Given the description of an element on the screen output the (x, y) to click on. 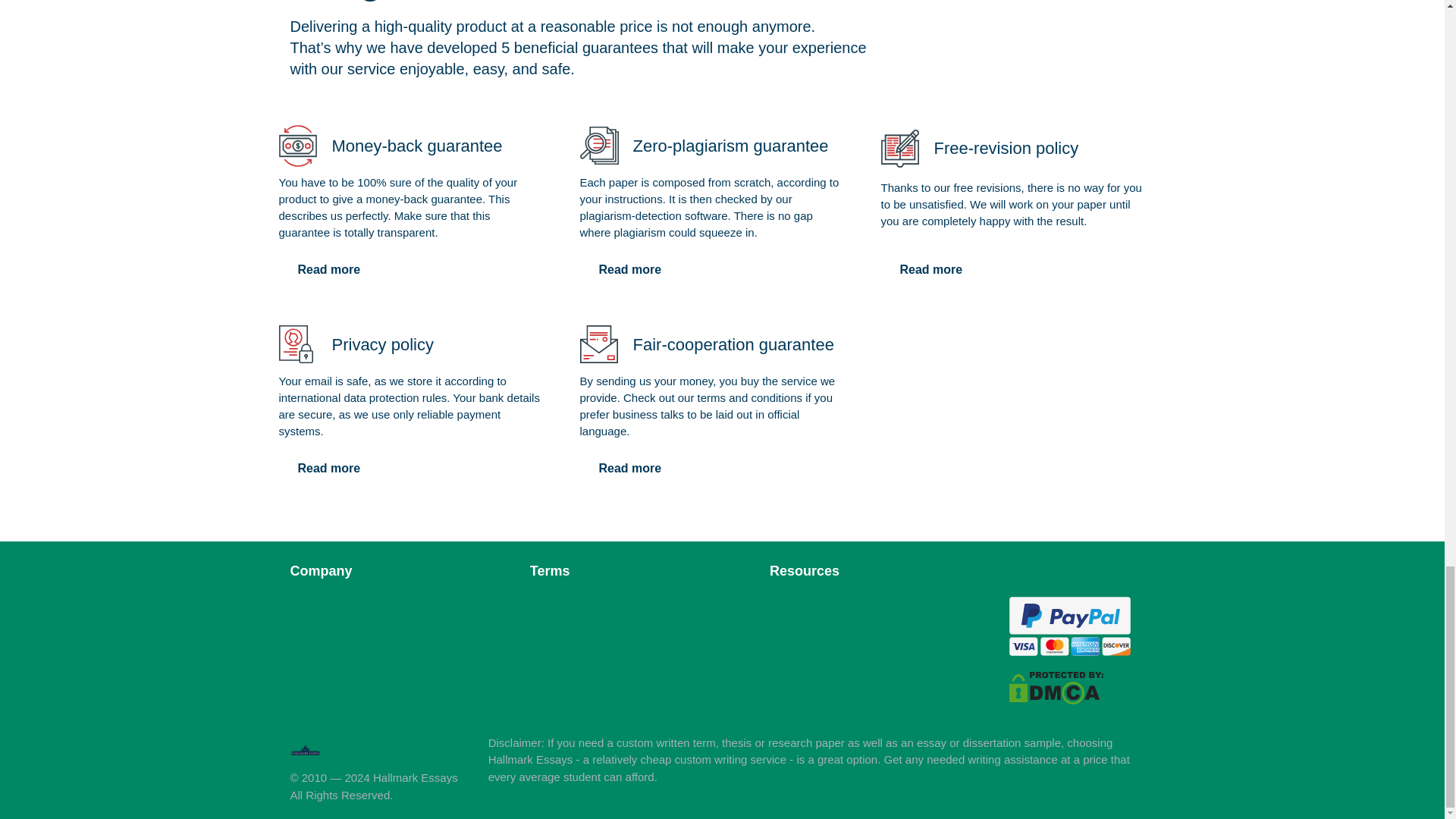
Read more (329, 468)
Read more (329, 269)
Read more (629, 468)
Read more (930, 269)
Read more (629, 269)
